Given the description of an element on the screen output the (x, y) to click on. 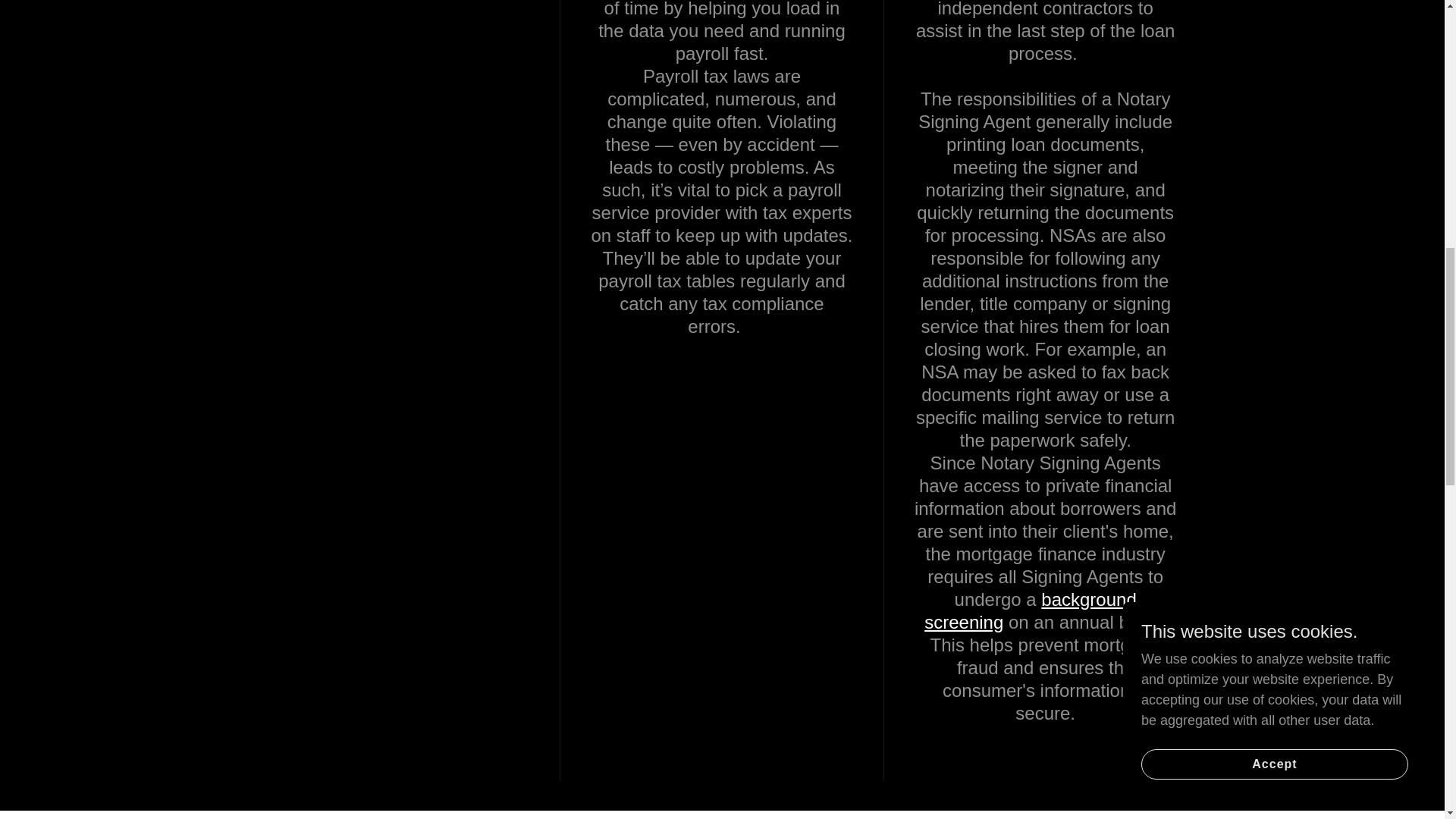
background screening (1030, 610)
